Given the description of an element on the screen output the (x, y) to click on. 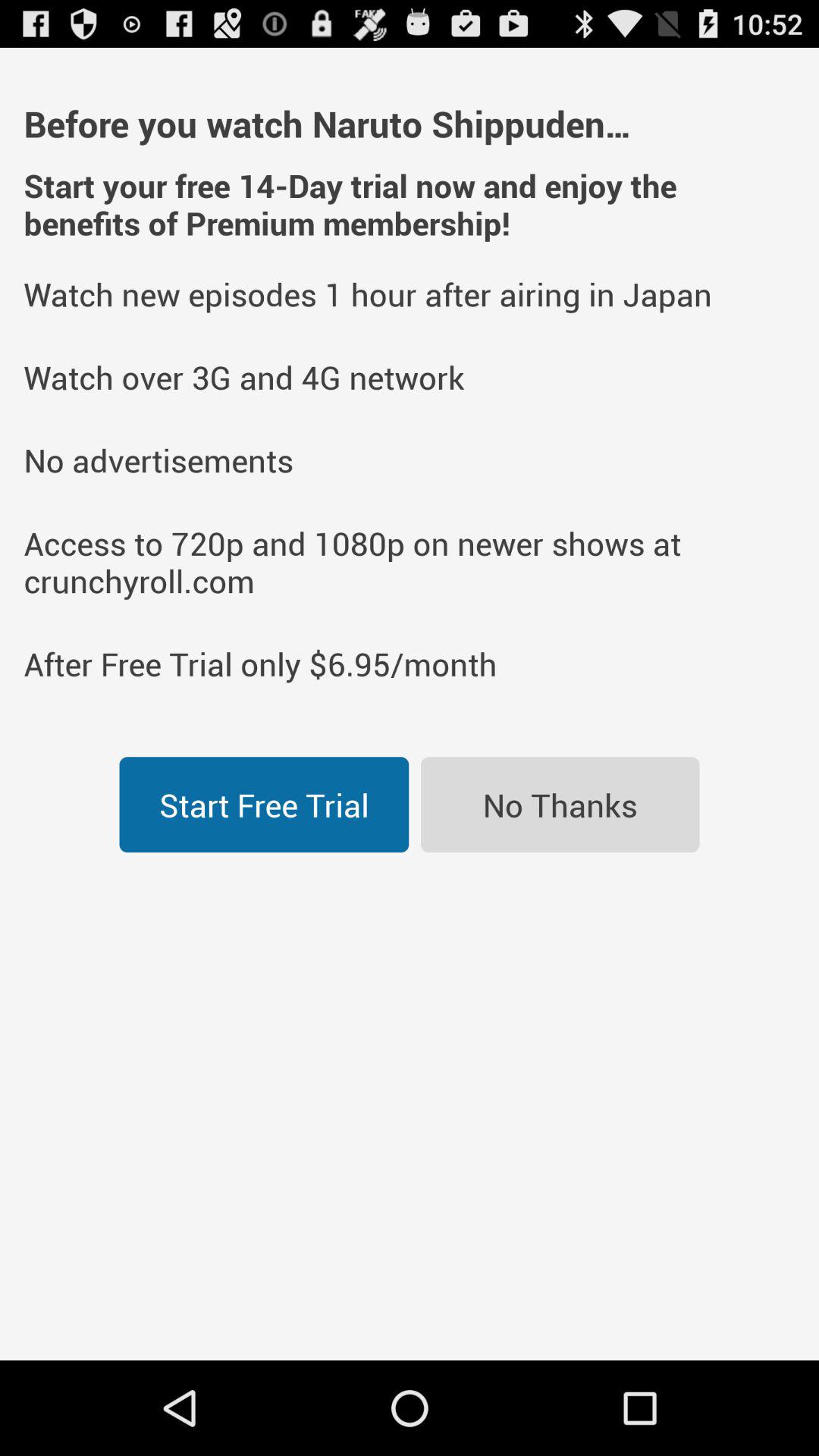
choose the icon next to the start free trial icon (559, 804)
